Given the description of an element on the screen output the (x, y) to click on. 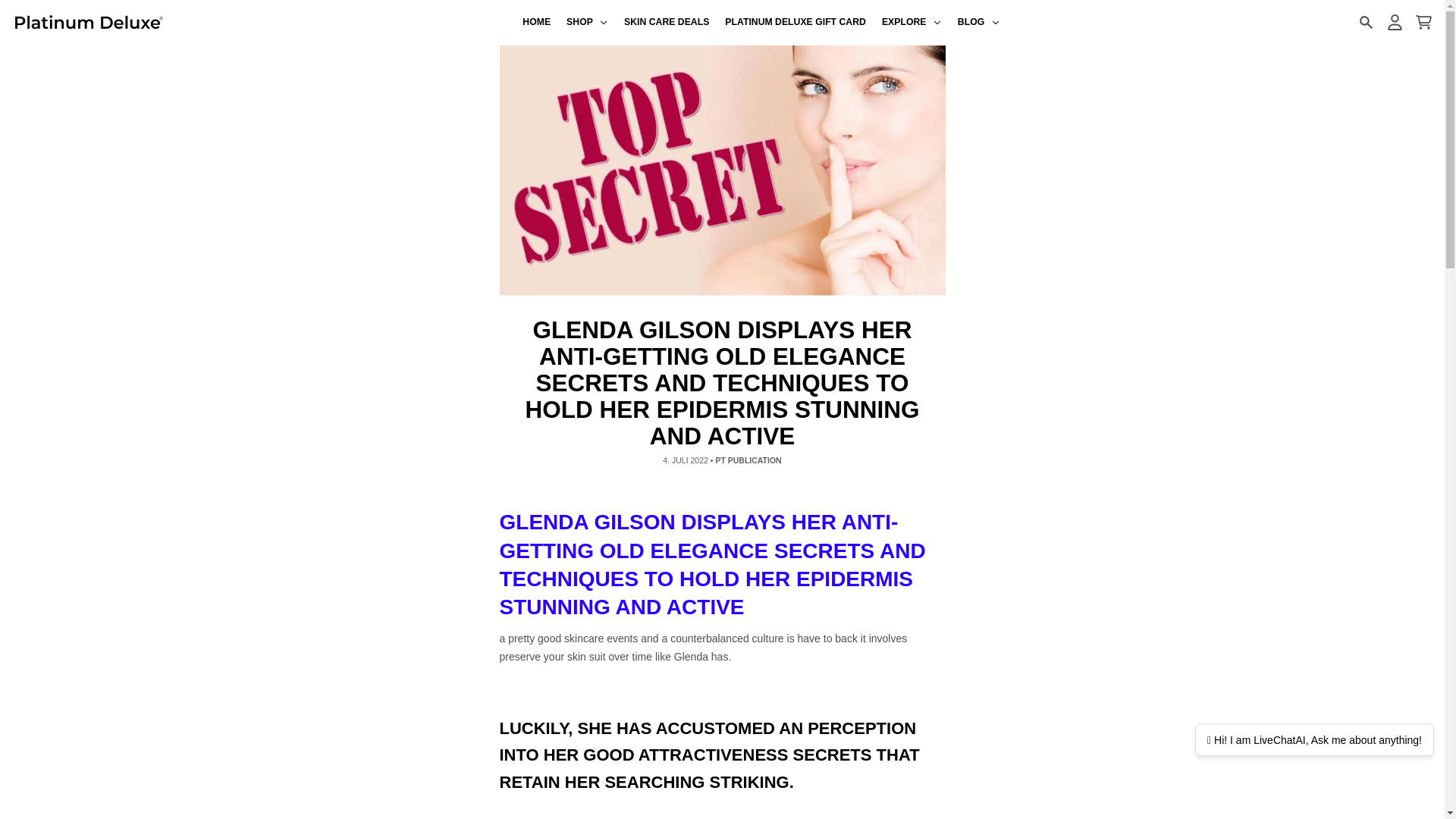
Konto (1394, 22)
Karren (1423, 22)
SKIN CARE DEALS (666, 22)
HOME (537, 22)
PLATINUM DELUXE GIFT CARD (796, 22)
Direkt zum Inhalt (18, 7)
Suchen (1364, 22)
